Given the description of an element on the screen output the (x, y) to click on. 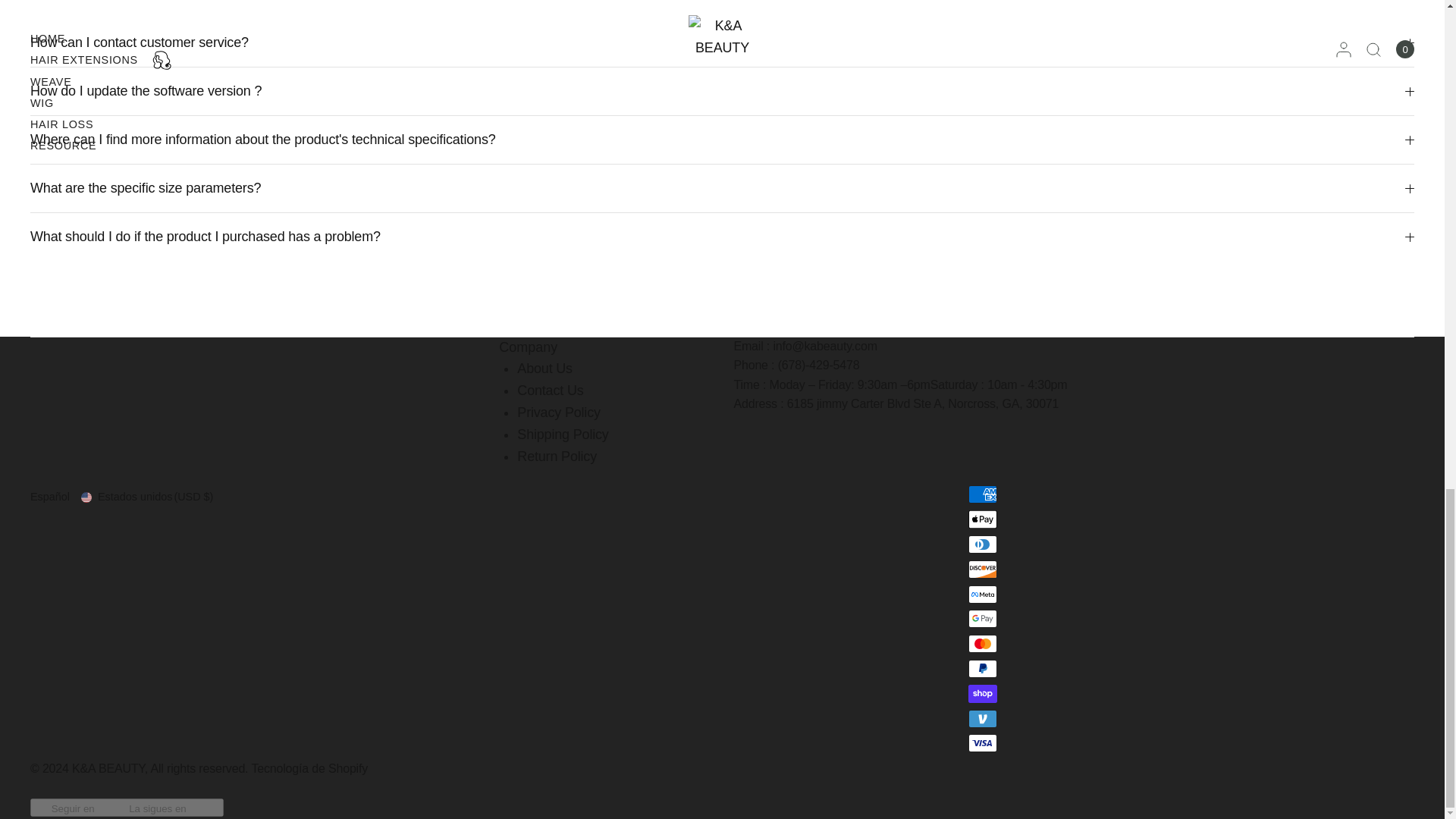
Venmo (982, 719)
Google Pay (982, 618)
Diners Club (982, 544)
American Express (982, 494)
Meta Pay (982, 594)
Visa (982, 742)
Mastercard (982, 643)
Discover (982, 569)
PayPal (982, 669)
Shop Pay (982, 693)
Apple Pay (982, 519)
